Given the description of an element on the screen output the (x, y) to click on. 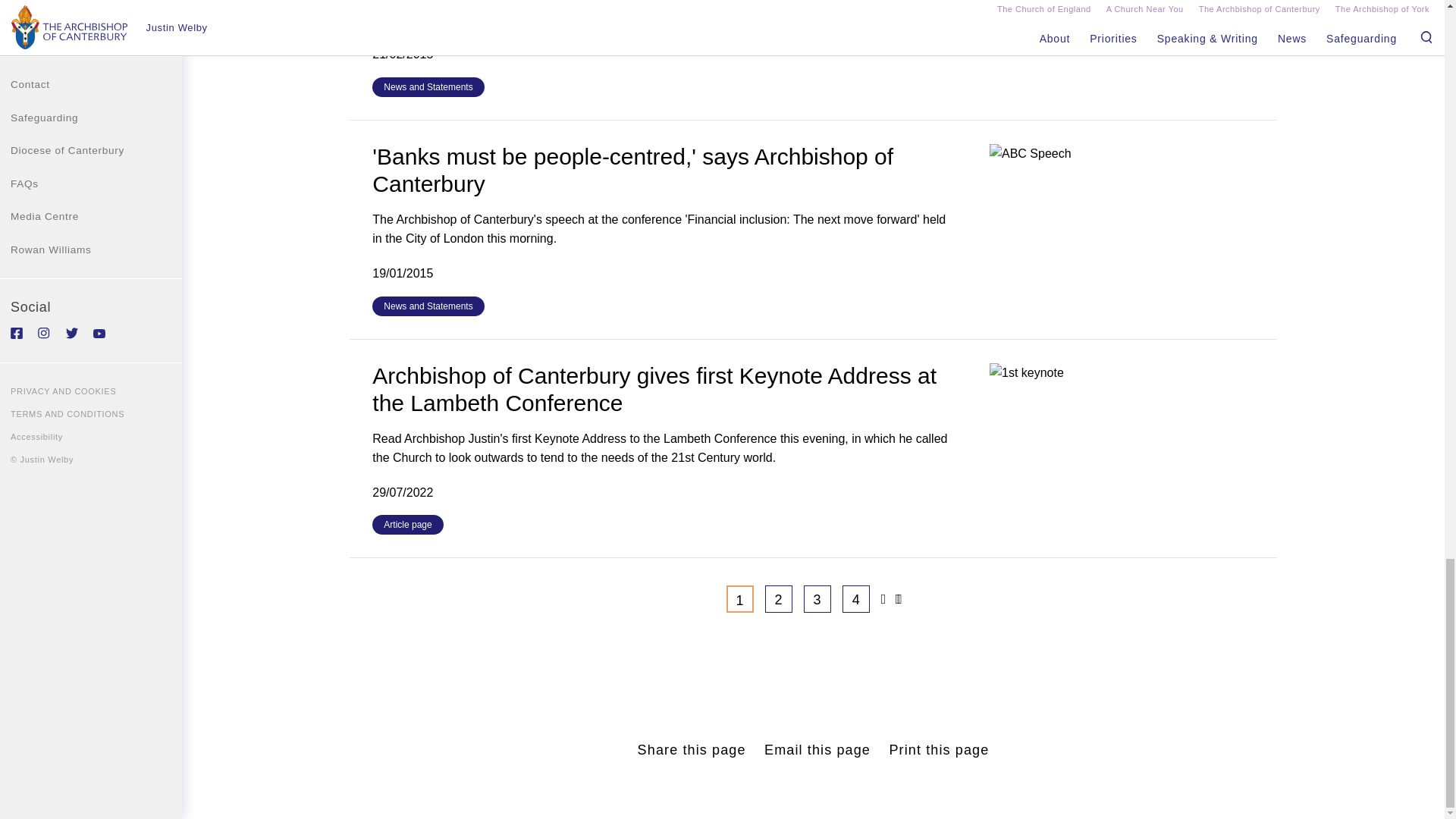
Go to page 2 (778, 598)
Current page (740, 598)
Go to page 4 (856, 598)
Go to page 3 (817, 598)
